Given the description of an element on the screen output the (x, y) to click on. 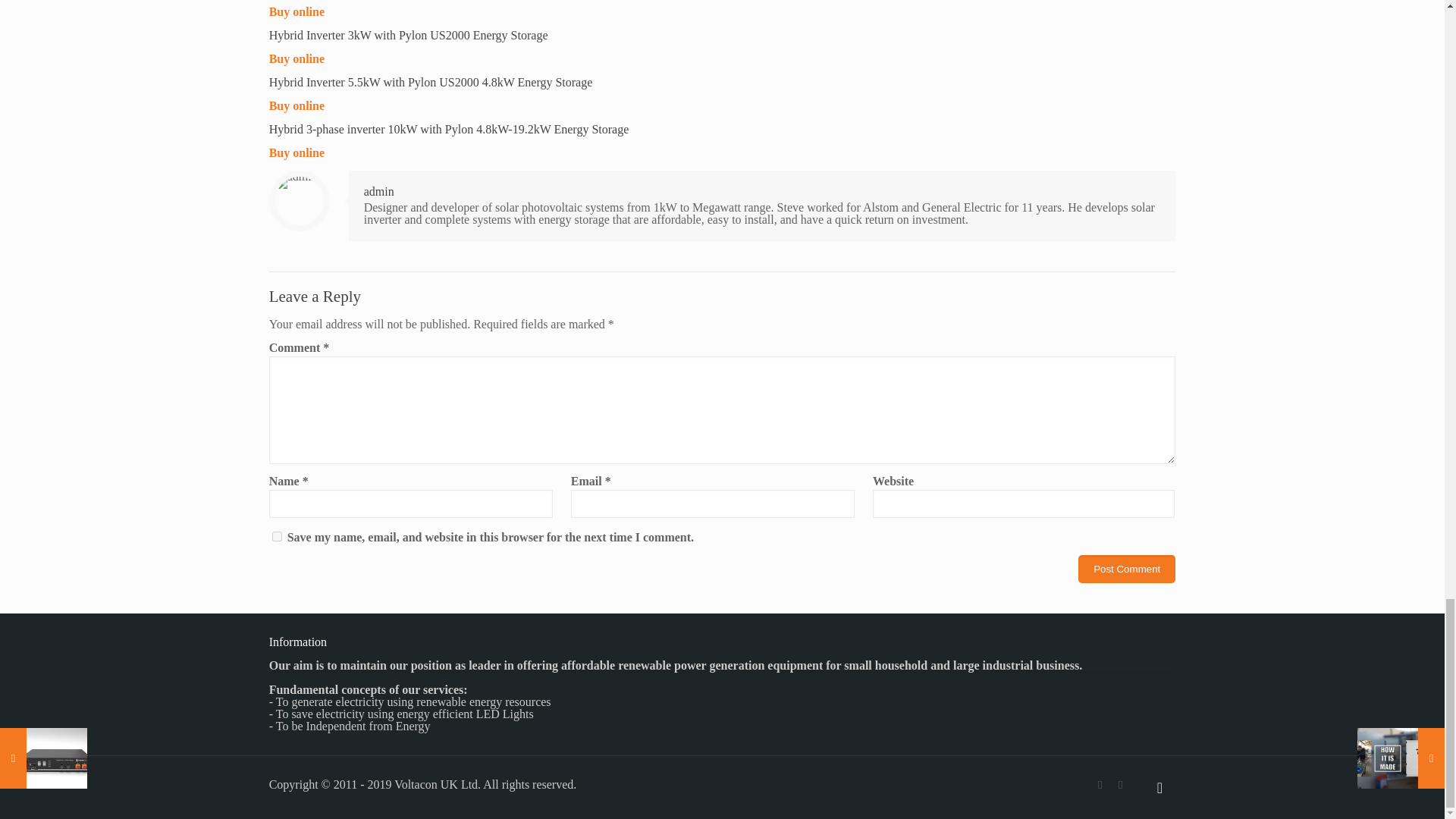
Buy online (296, 152)
yes (277, 536)
admin (379, 191)
Buy online (296, 11)
Buy online (296, 105)
Facebook (1100, 784)
Twitter (1120, 784)
Buy online (296, 58)
Post Comment (1126, 569)
Post Comment (1126, 569)
